Given the description of an element on the screen output the (x, y) to click on. 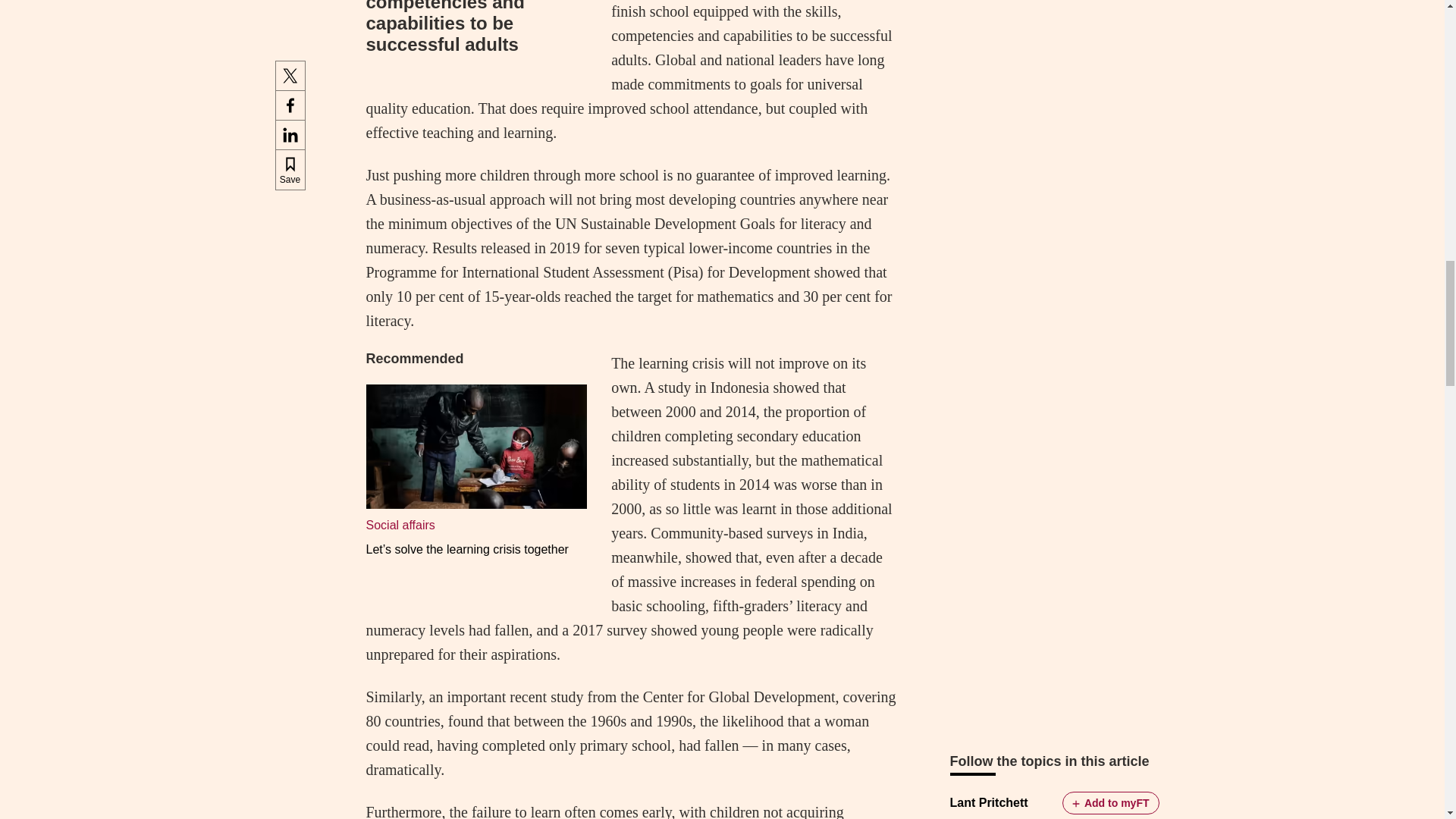
Add Lant Pritchett to myFT (1110, 802)
